Given the description of an element on the screen output the (x, y) to click on. 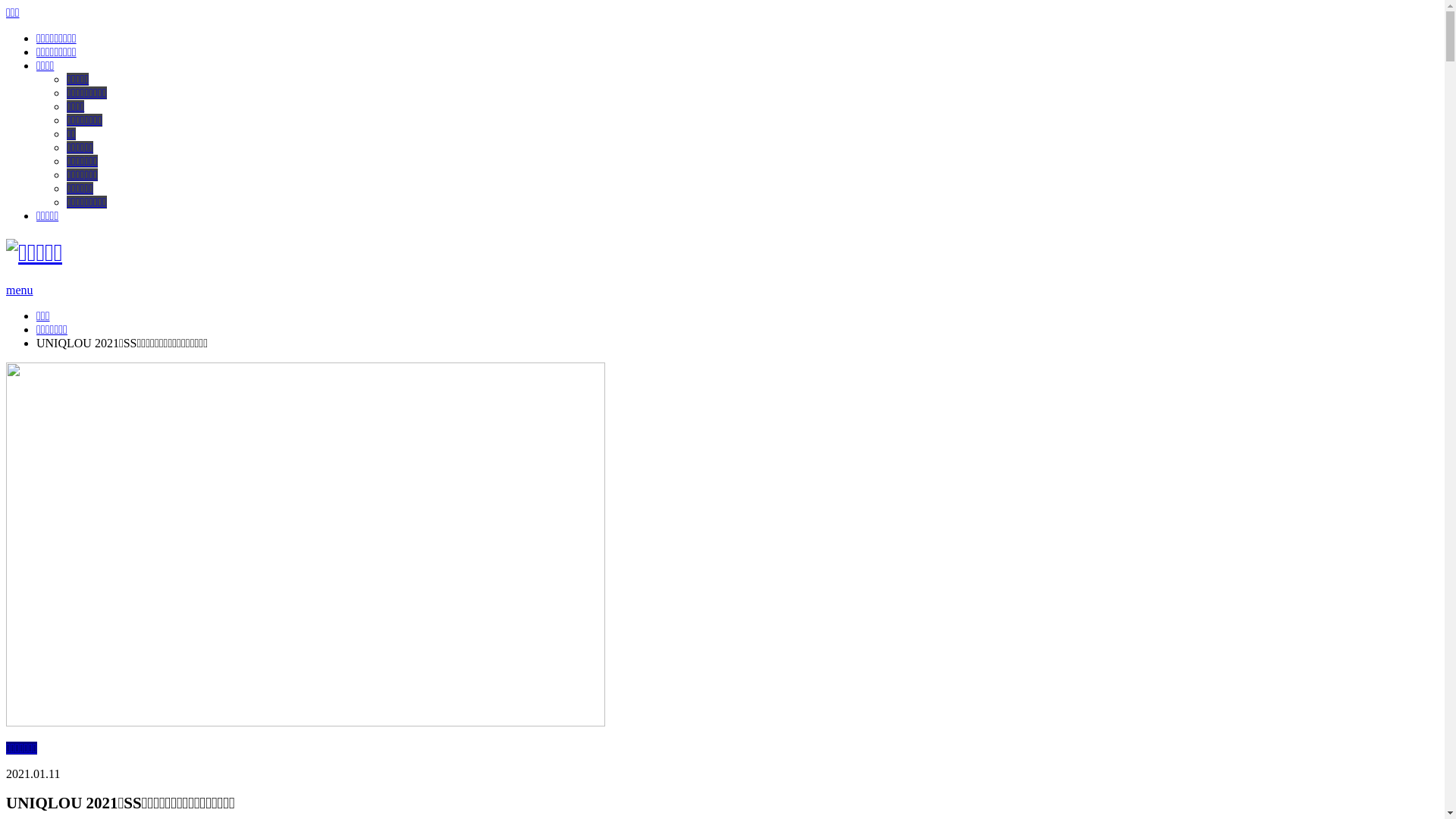
menu Element type: text (19, 289)
